Given the description of an element on the screen output the (x, y) to click on. 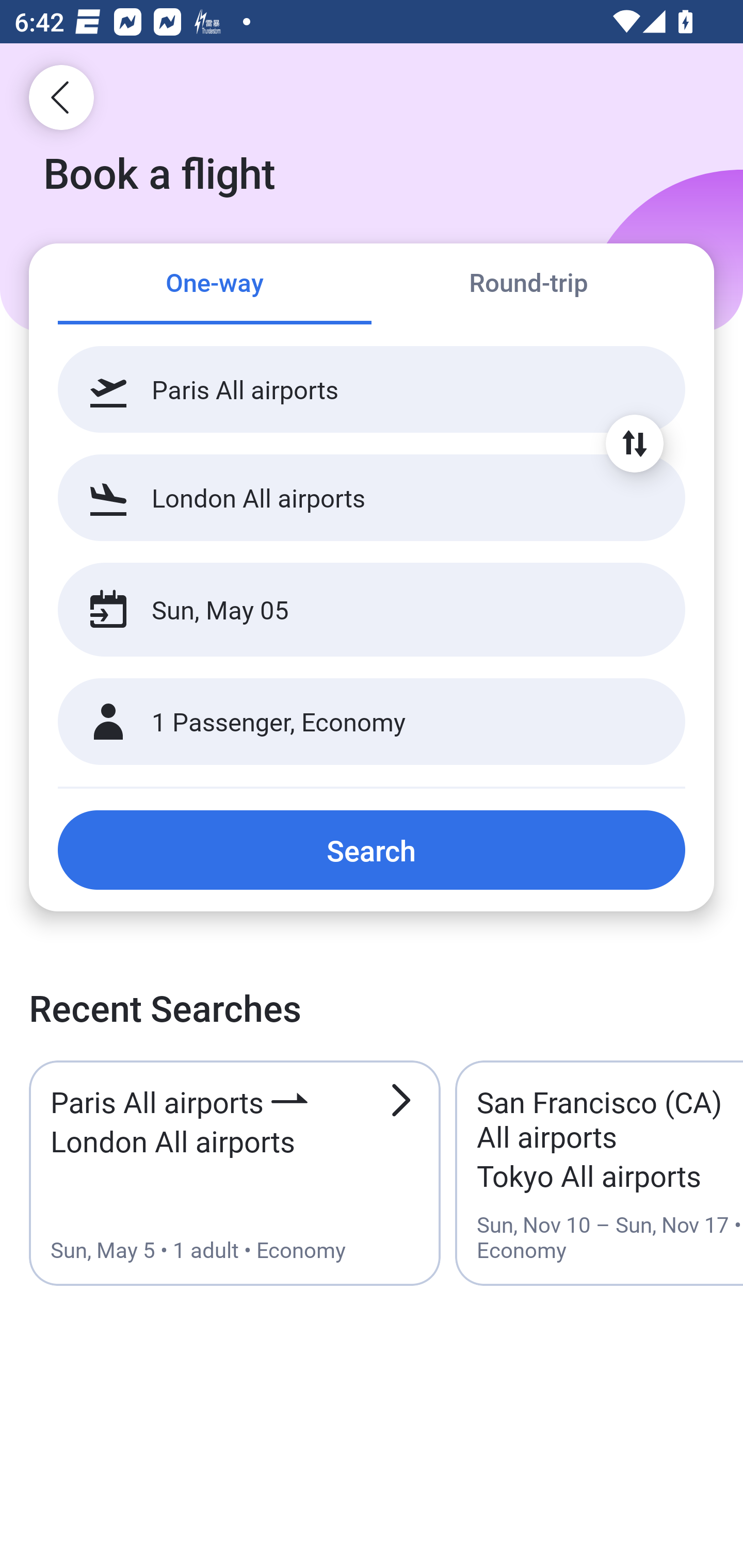
Round-trip (528, 284)
Paris All airports (371, 389)
London All airports (371, 497)
Sun, May 05 (349, 609)
1 Passenger, Economy (371, 721)
Search (371, 849)
